Given the description of an element on the screen output the (x, y) to click on. 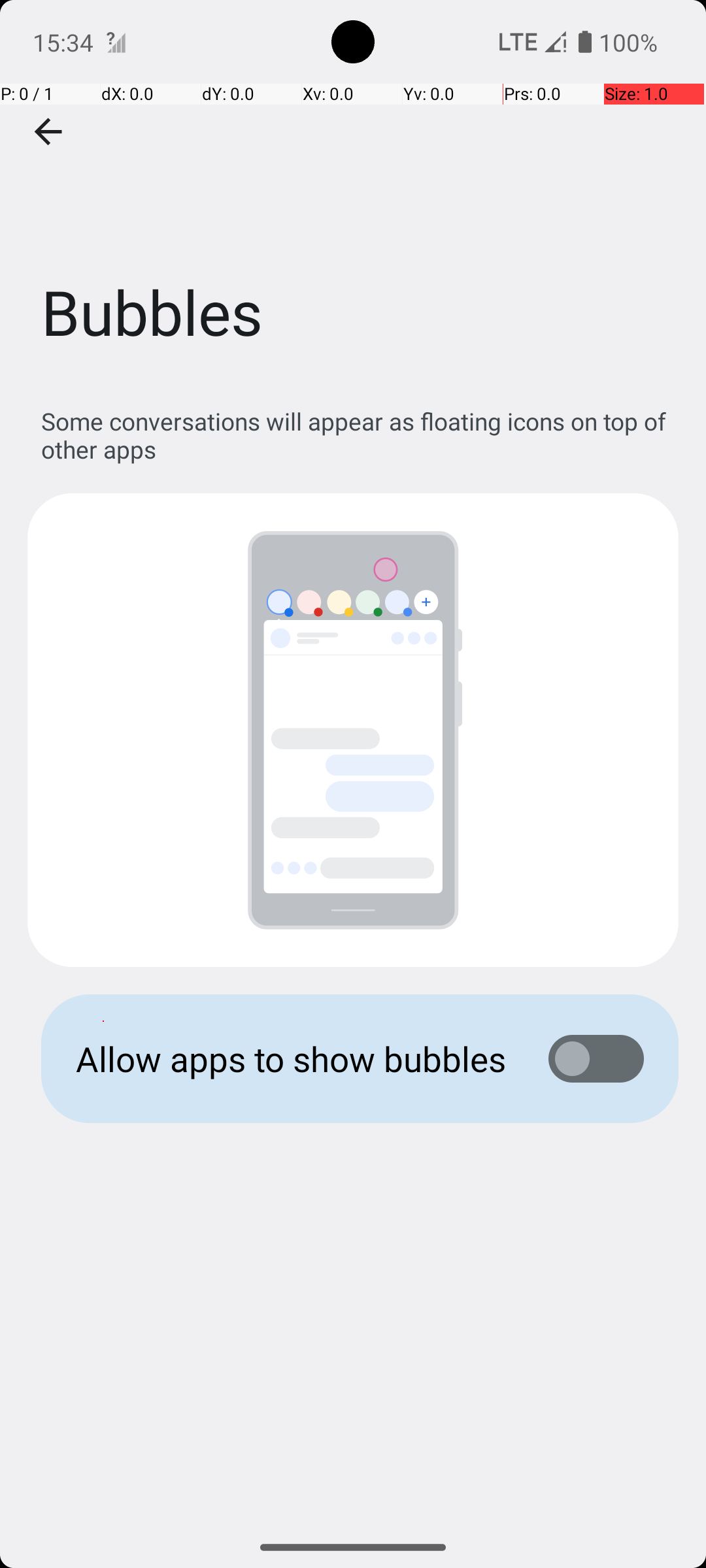
Some conversations will appear as floating icons on top of other apps Element type: android.widget.TextView (359, 434)
Allow apps to show bubbles Element type: android.widget.TextView (291, 1058)
